Given the description of an element on the screen output the (x, y) to click on. 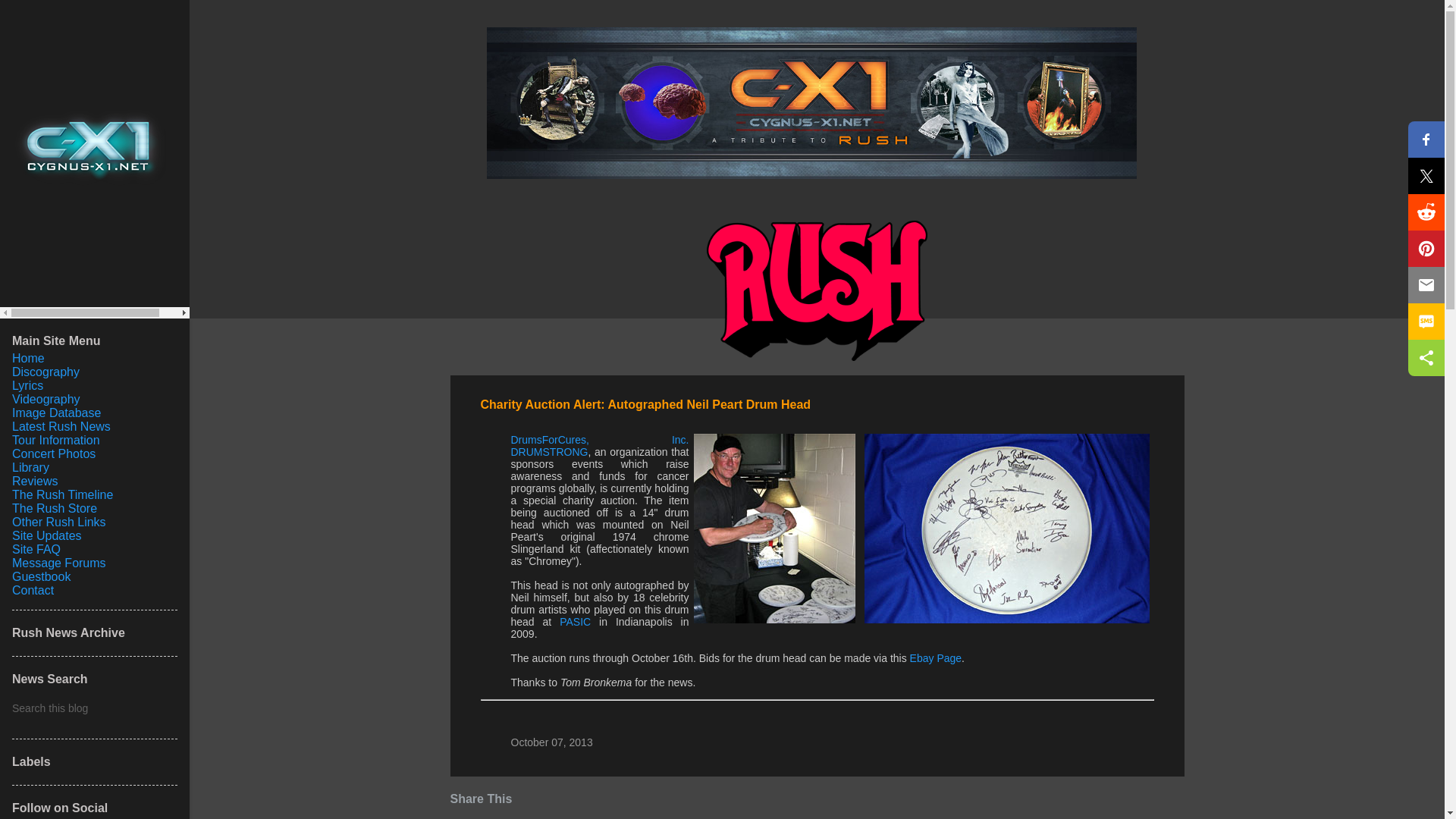
October 07, 2013 (551, 742)
PASIC (575, 621)
permanent link (551, 742)
DrumsForCures, Inc. DRUMSTRONG (599, 445)
Ebay Page (936, 657)
